Given the description of an element on the screen output the (x, y) to click on. 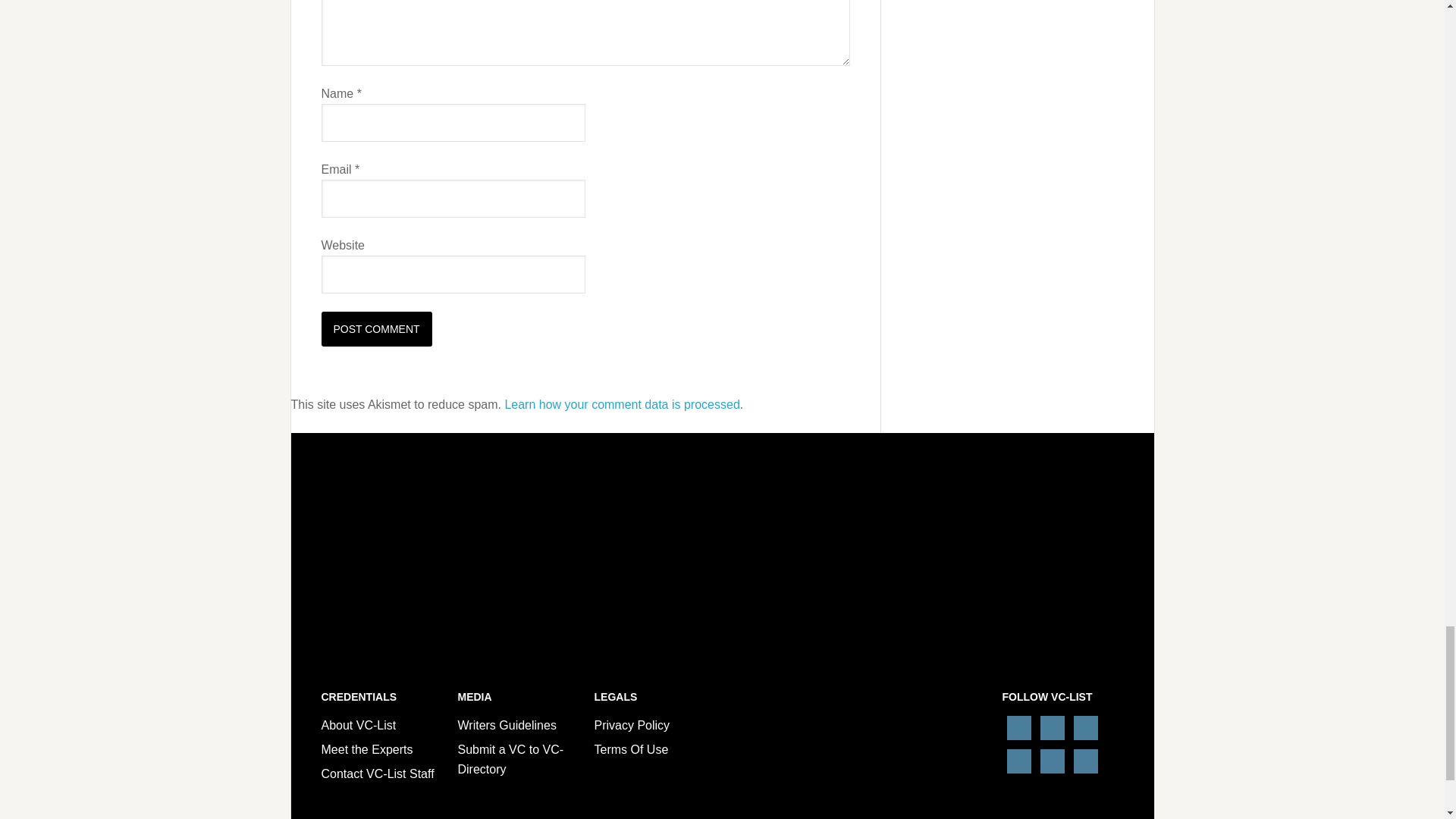
Learn how your comment data is processed (621, 404)
About VC-List (358, 725)
Post Comment (376, 329)
Contact VC-List Staff (377, 773)
Post Comment (376, 329)
Meet the Experts (367, 748)
